Given the description of an element on the screen output the (x, y) to click on. 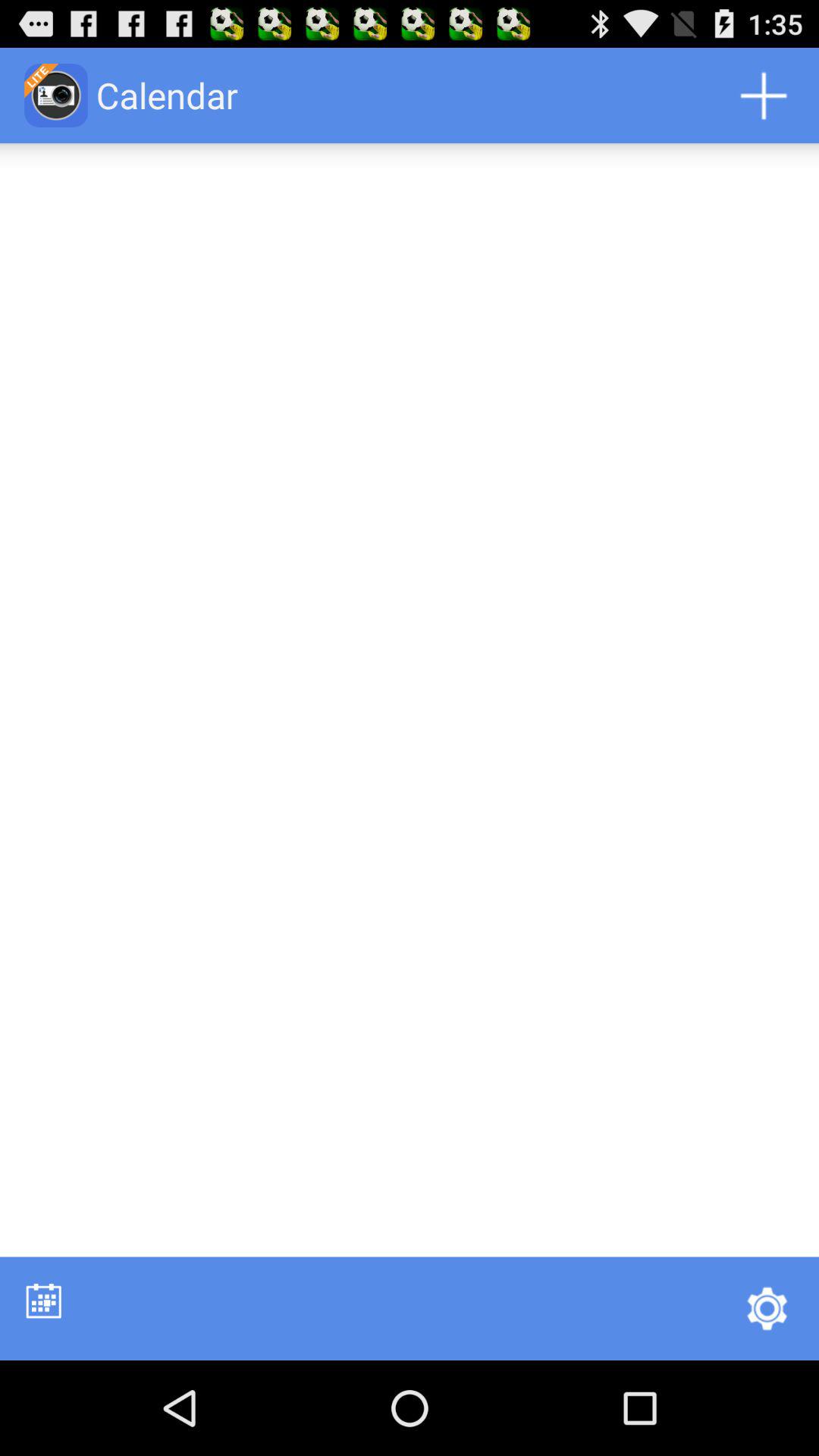
this button selects the calendar (43, 1300)
